Given the description of an element on the screen output the (x, y) to click on. 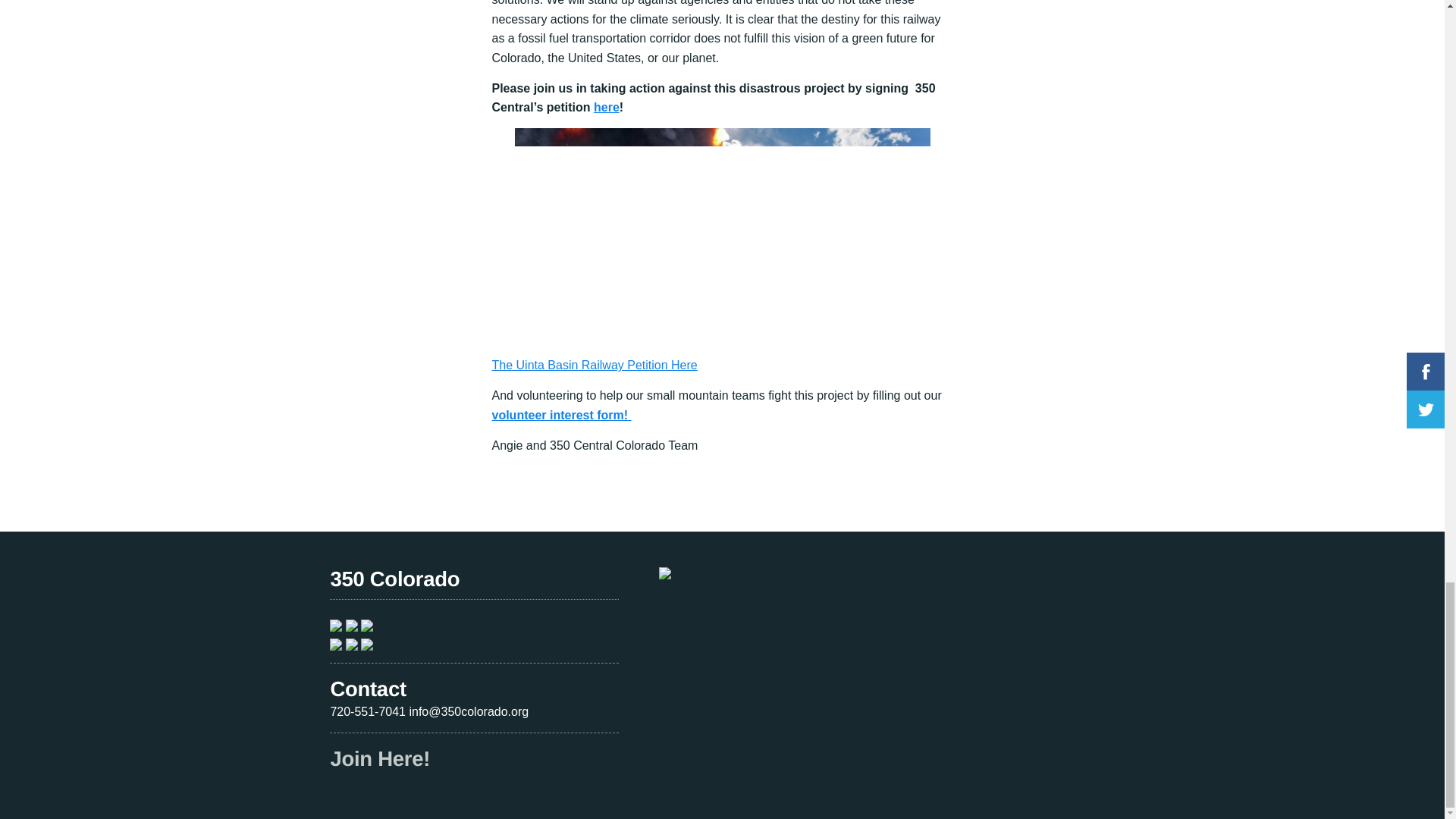
The Uinta Basin Railway Petition Here (594, 364)
volunteer interest form!  (561, 414)
here (607, 106)
